Given the description of an element on the screen output the (x, y) to click on. 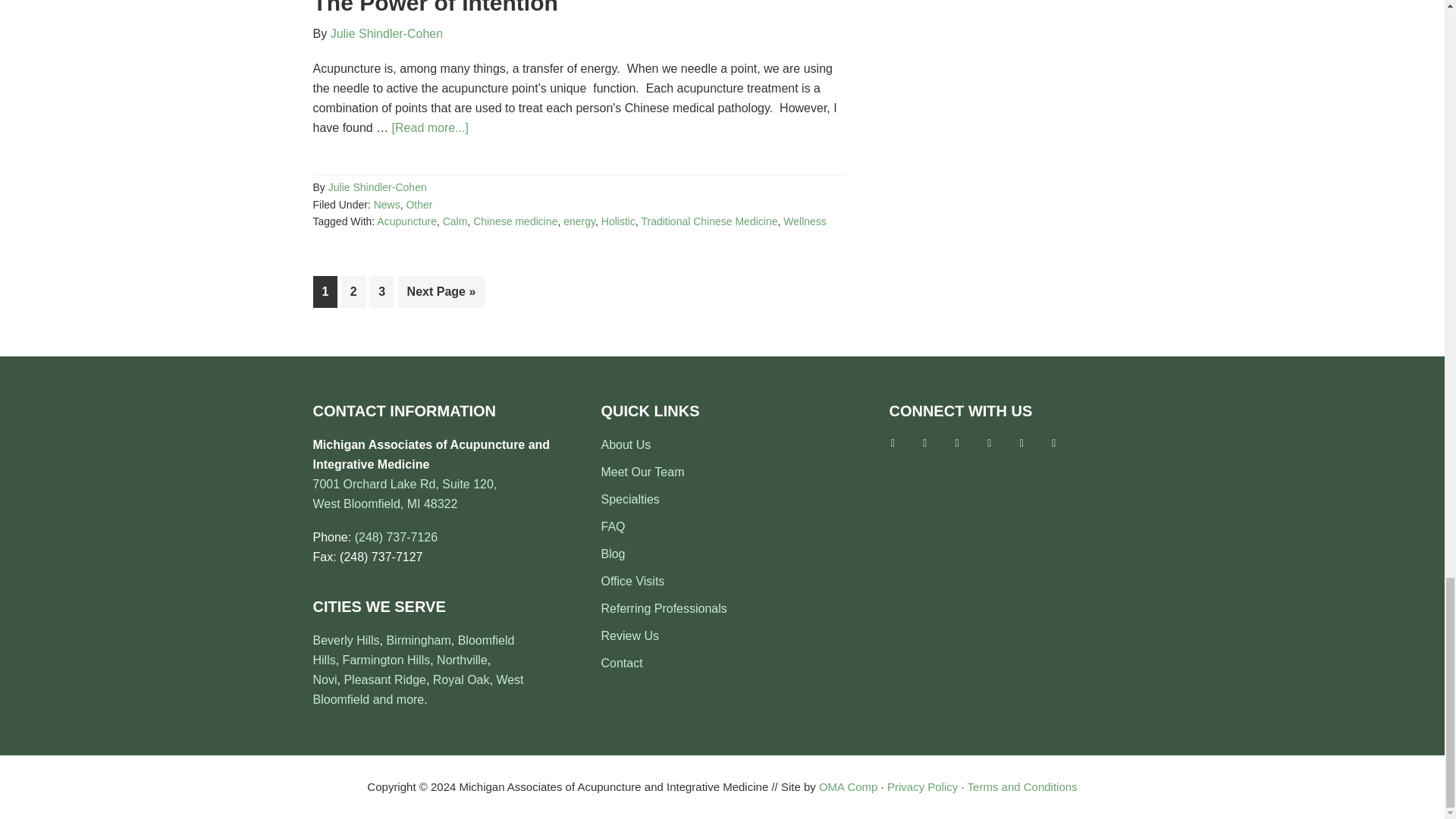
Default Label (956, 441)
Default Label (1021, 441)
Instagram (989, 441)
Facebook (892, 441)
Default Label (1053, 441)
Twitter (925, 441)
OMA Comp (847, 786)
